Given the description of an element on the screen output the (x, y) to click on. 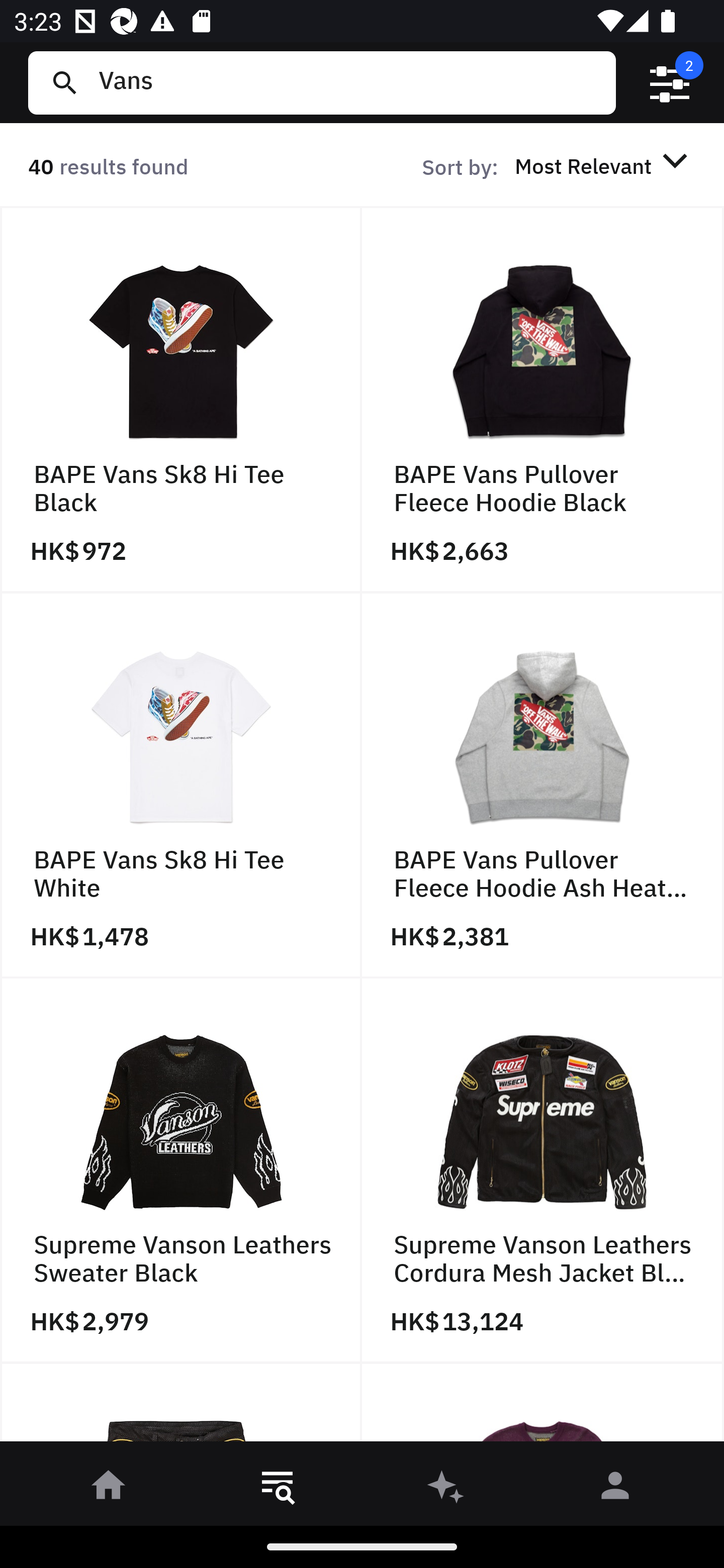
Vans (349, 82)
 (669, 82)
Most Relevant  (604, 165)
BAPE Vans Sk8 Hi Tee Black HK$ 972 (181, 399)
BAPE Vans Pullover Fleece Hoodie Black HK$ 2,663 (543, 399)
BAPE Vans Sk8 Hi Tee White HK$ 1,478 (181, 785)
Supreme Vanson Leathers Sweater Black HK$ 2,979 (181, 1171)
󰋜 (108, 1488)
󱎸 (277, 1488)
󰫢 (446, 1488)
󰀄 (615, 1488)
